Given the description of an element on the screen output the (x, y) to click on. 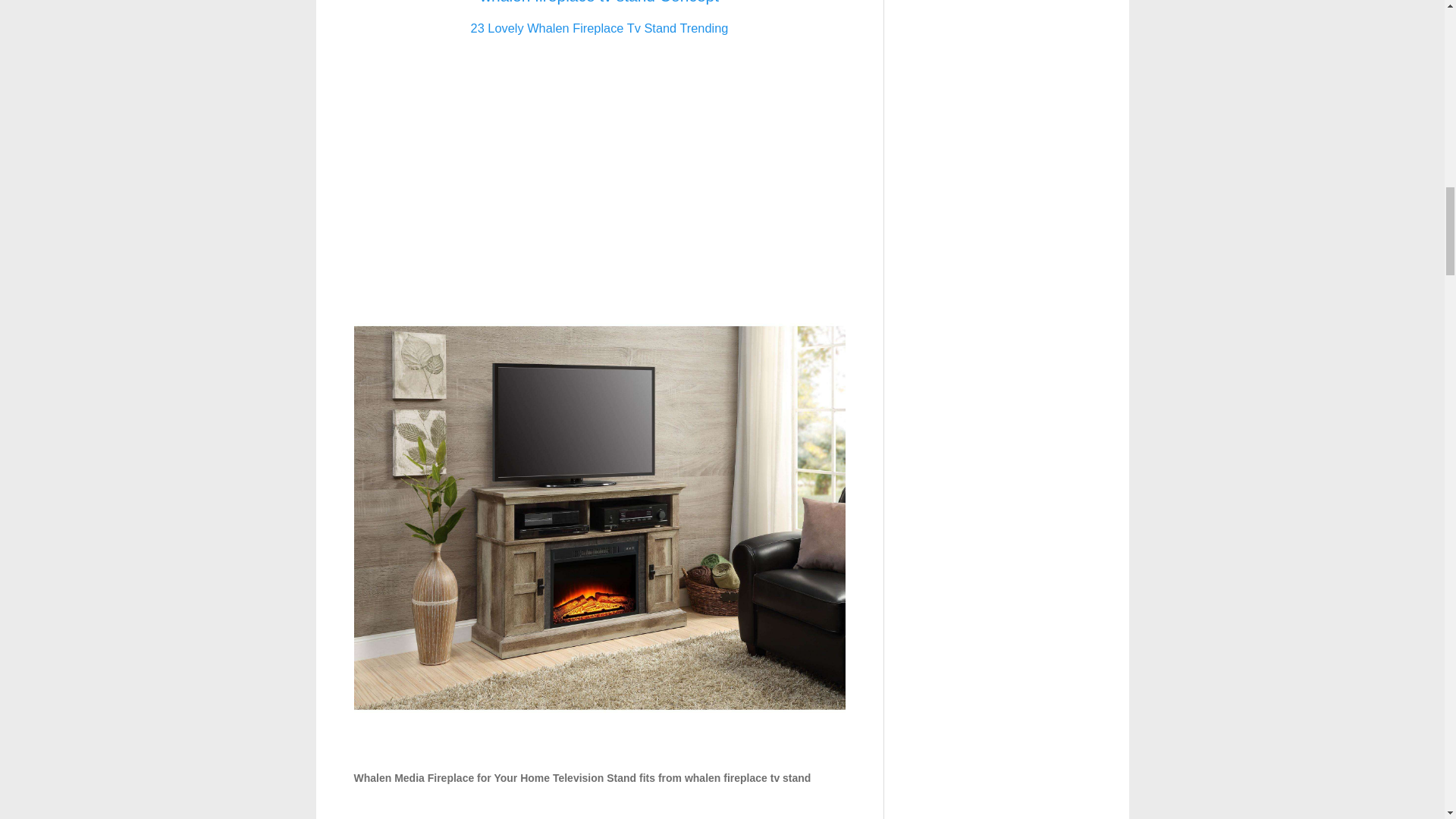
Advertisement (599, 155)
